Given the description of an element on the screen output the (x, y) to click on. 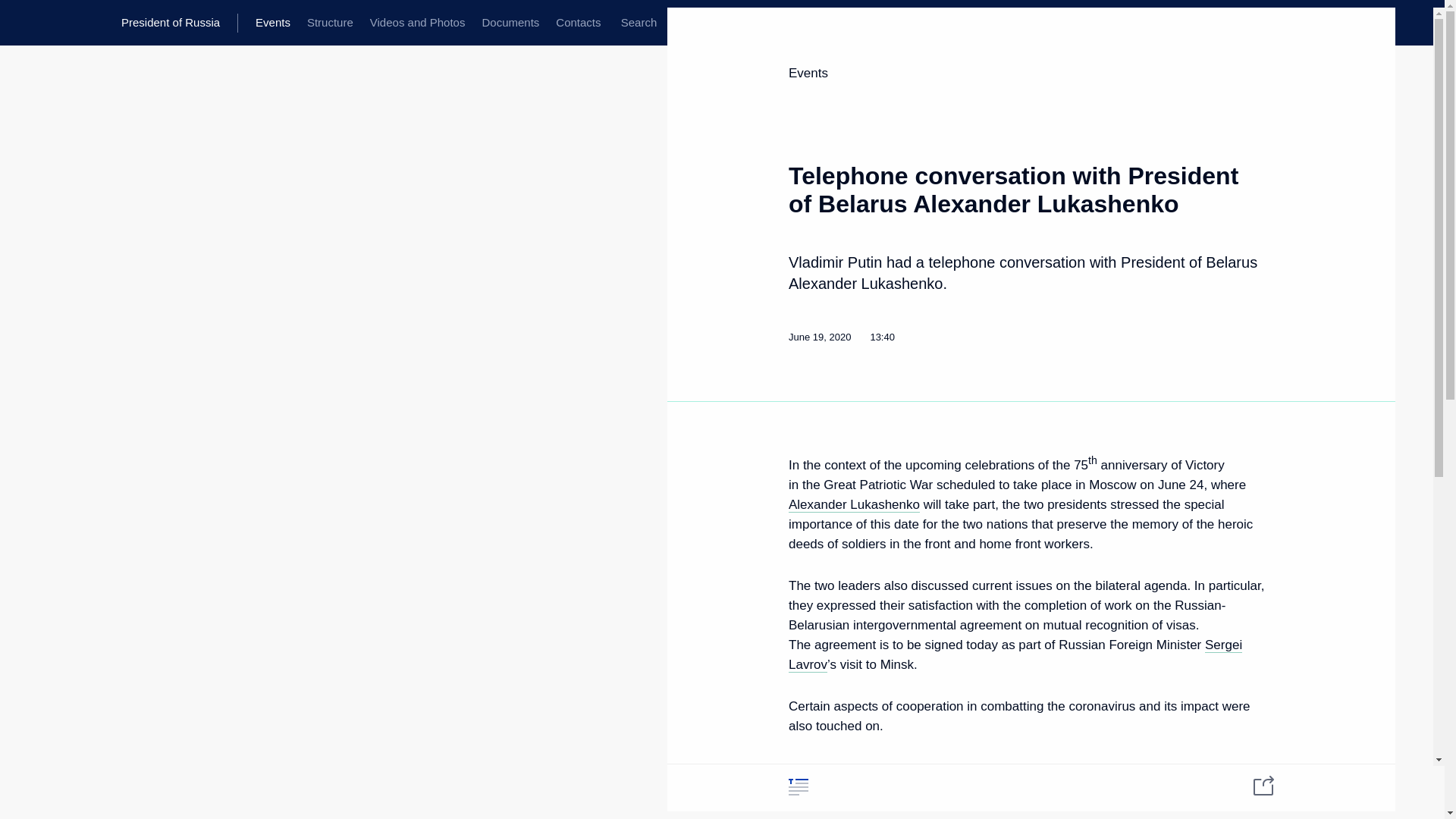
Global website search (638, 22)
Sergei Lavrov (1015, 655)
Portal Menu (24, 22)
Contacts (577, 22)
Events (272, 22)
Documents (510, 22)
Structure (329, 22)
President of Russia (179, 22)
Videos and Photos (417, 22)
